Given the description of an element on the screen output the (x, y) to click on. 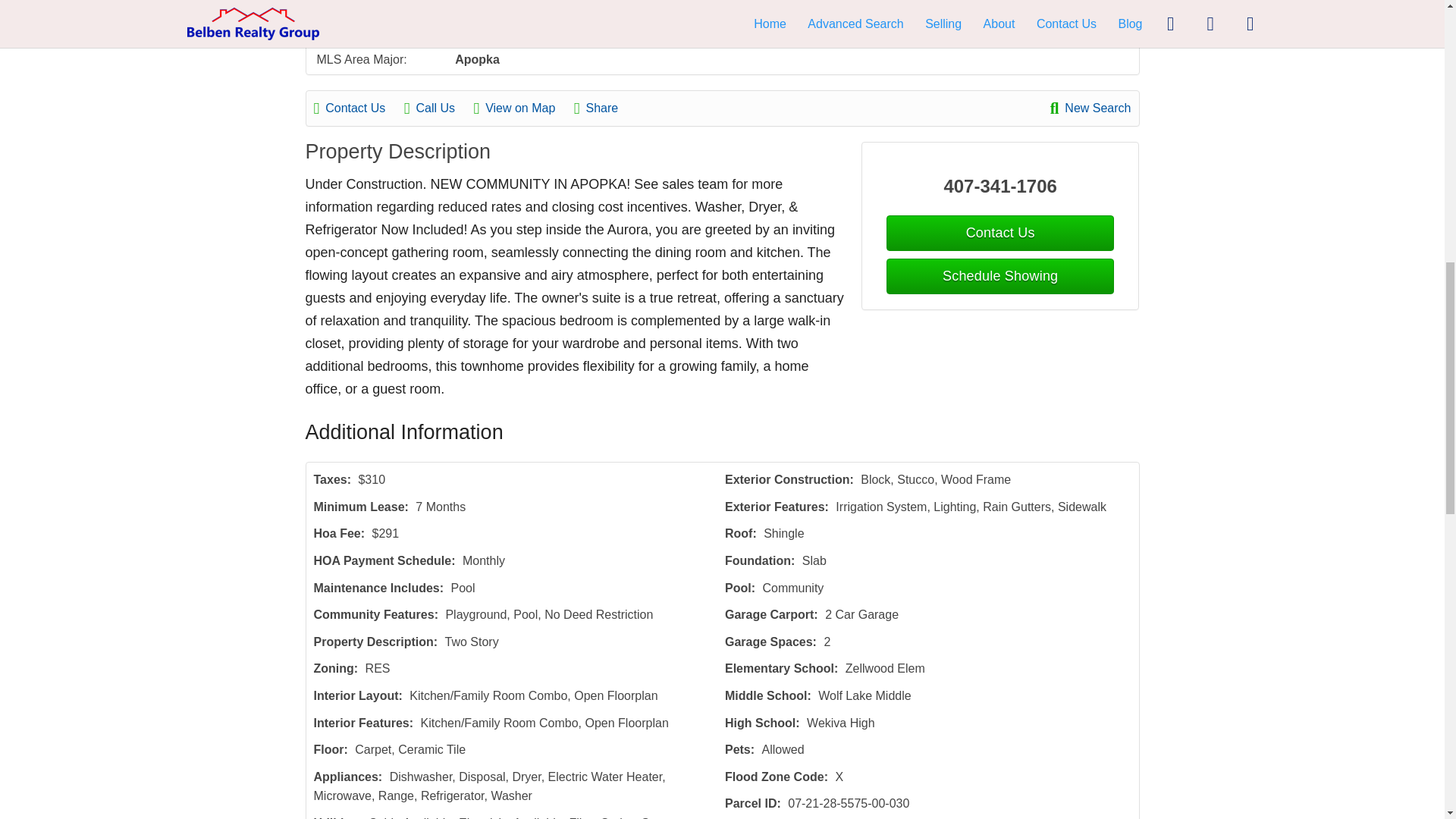
Call Us (437, 108)
New Search (1090, 108)
View on Map (521, 108)
Contact Us (357, 108)
407-341-1706 (1000, 185)
Share (603, 108)
